Given the description of an element on the screen output the (x, y) to click on. 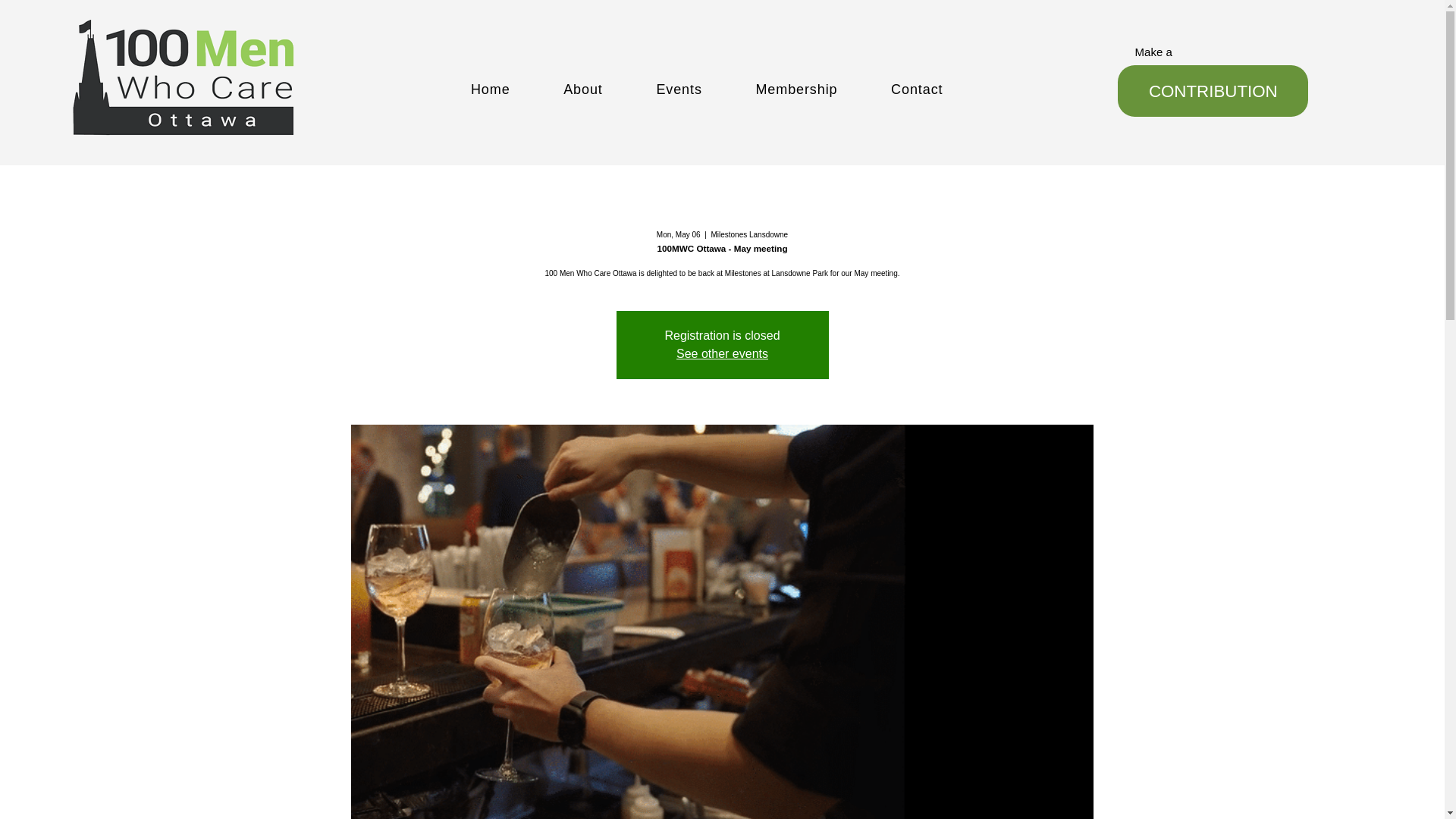
Contact (943, 89)
About (609, 89)
See other events (722, 353)
Home (516, 89)
CONTRIBUTION (1212, 91)
Membership (823, 89)
Events (705, 89)
